Given the description of an element on the screen output the (x, y) to click on. 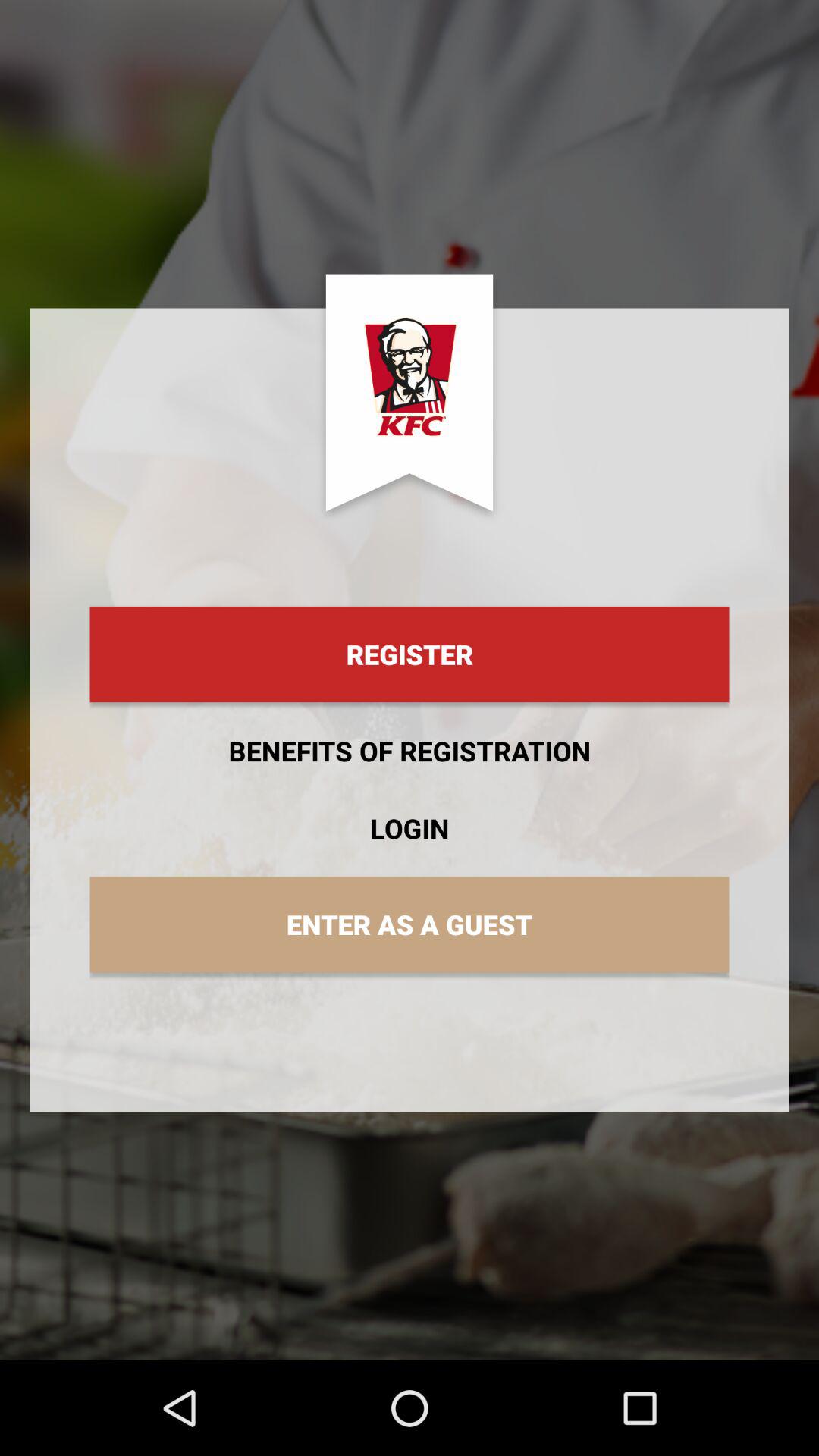
click app below the benefits of registration item (409, 828)
